Given the description of an element on the screen output the (x, y) to click on. 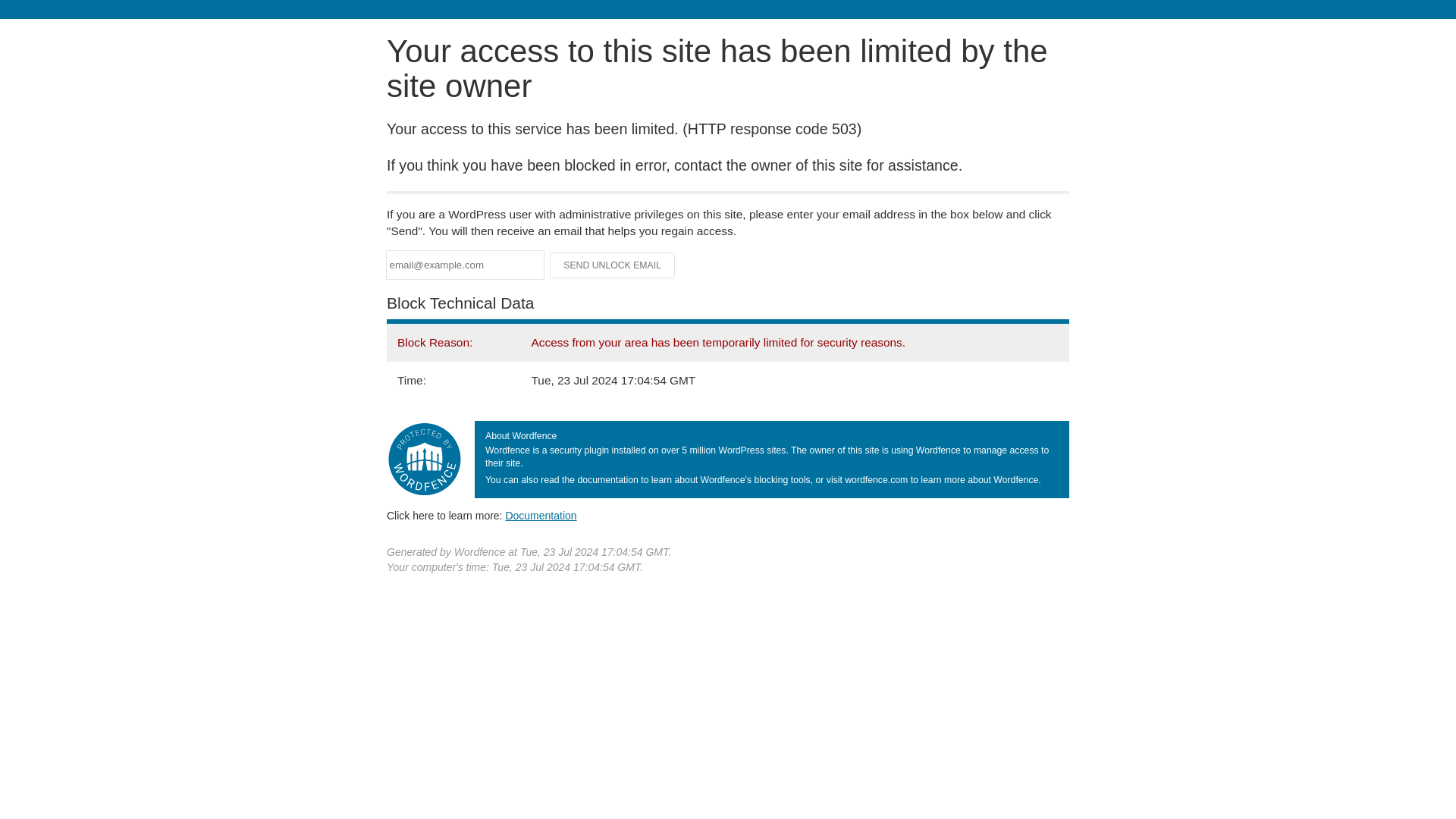
Send Unlock Email (612, 265)
Send Unlock Email (612, 265)
Documentation (540, 515)
